Given the description of an element on the screen output the (x, y) to click on. 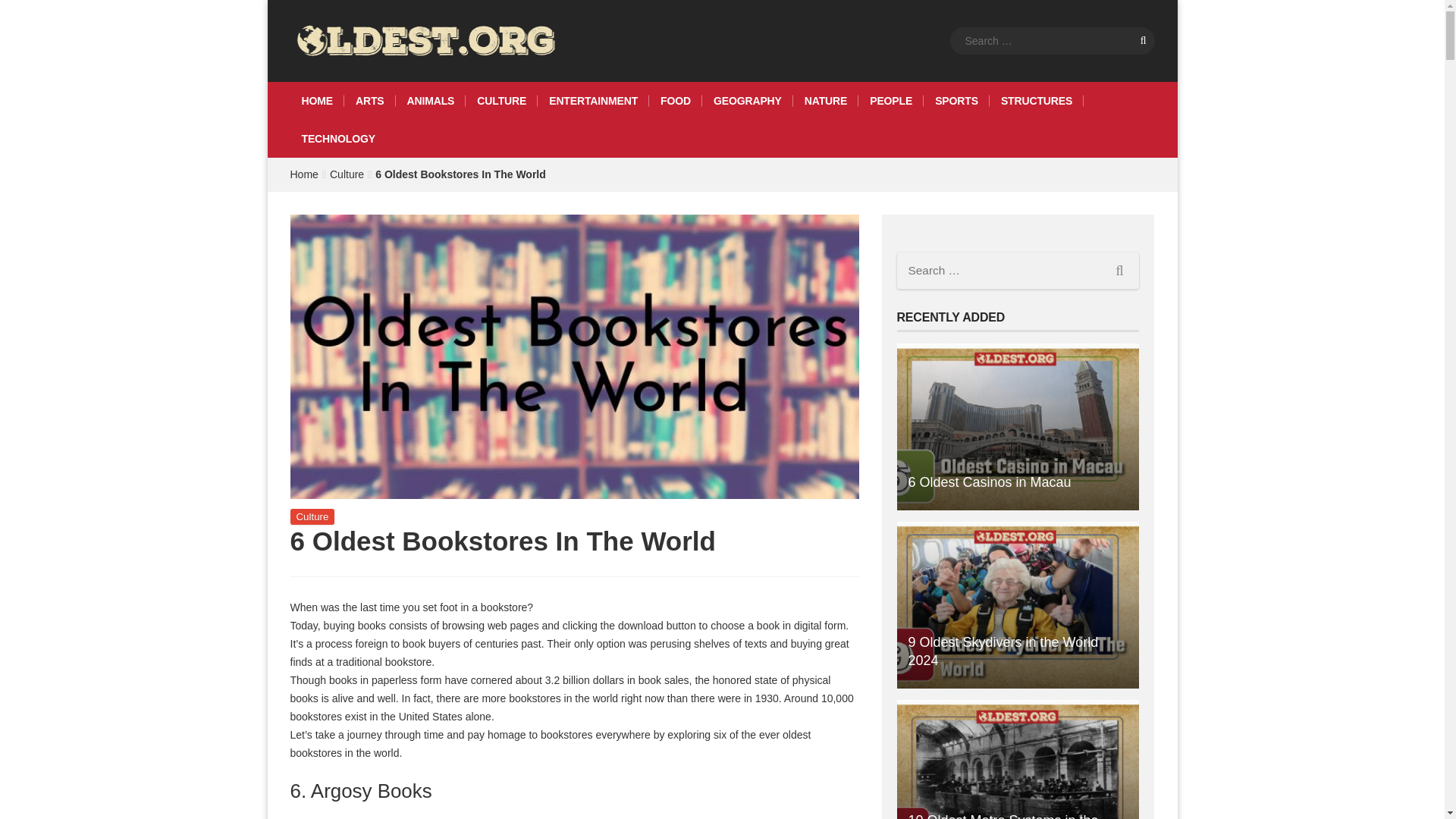
SPORTS (956, 100)
ARTS (369, 100)
NATURE (826, 100)
Home (303, 174)
Culture (311, 516)
Home (303, 174)
6 Oldest Bookstores In The World (460, 174)
STRUCTURES (1036, 100)
ENTERTAINMENT (593, 100)
